Given the description of an element on the screen output the (x, y) to click on. 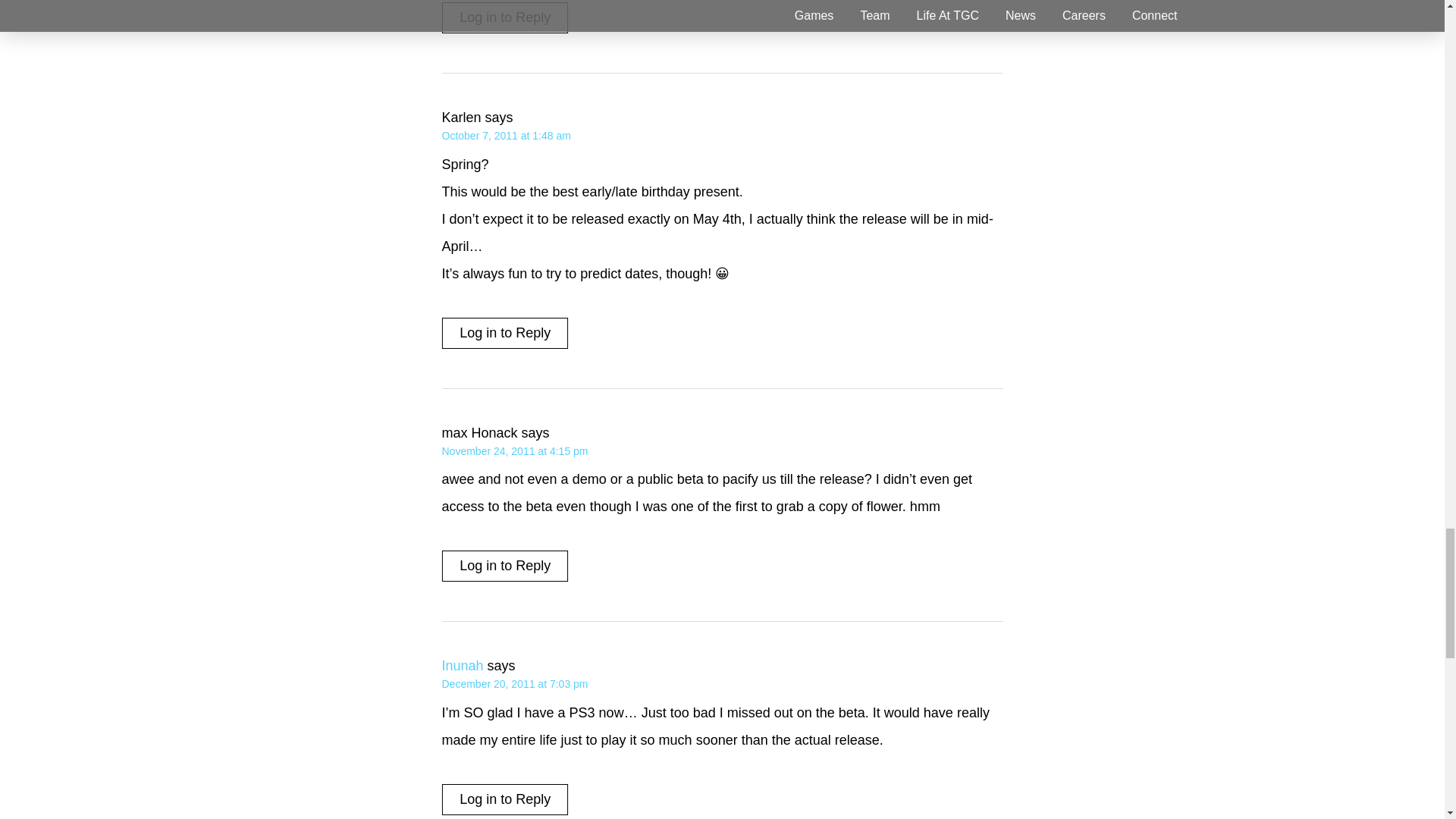
November 24, 2011 at 4:15 pm (514, 451)
Log in to Reply (505, 798)
October 7, 2011 at 1:48 am (505, 135)
Inunah (462, 665)
Log in to Reply (505, 332)
Log in to Reply (505, 566)
Log in to Reply (505, 17)
December 20, 2011 at 7:03 pm (514, 684)
